Given the description of an element on the screen output the (x, y) to click on. 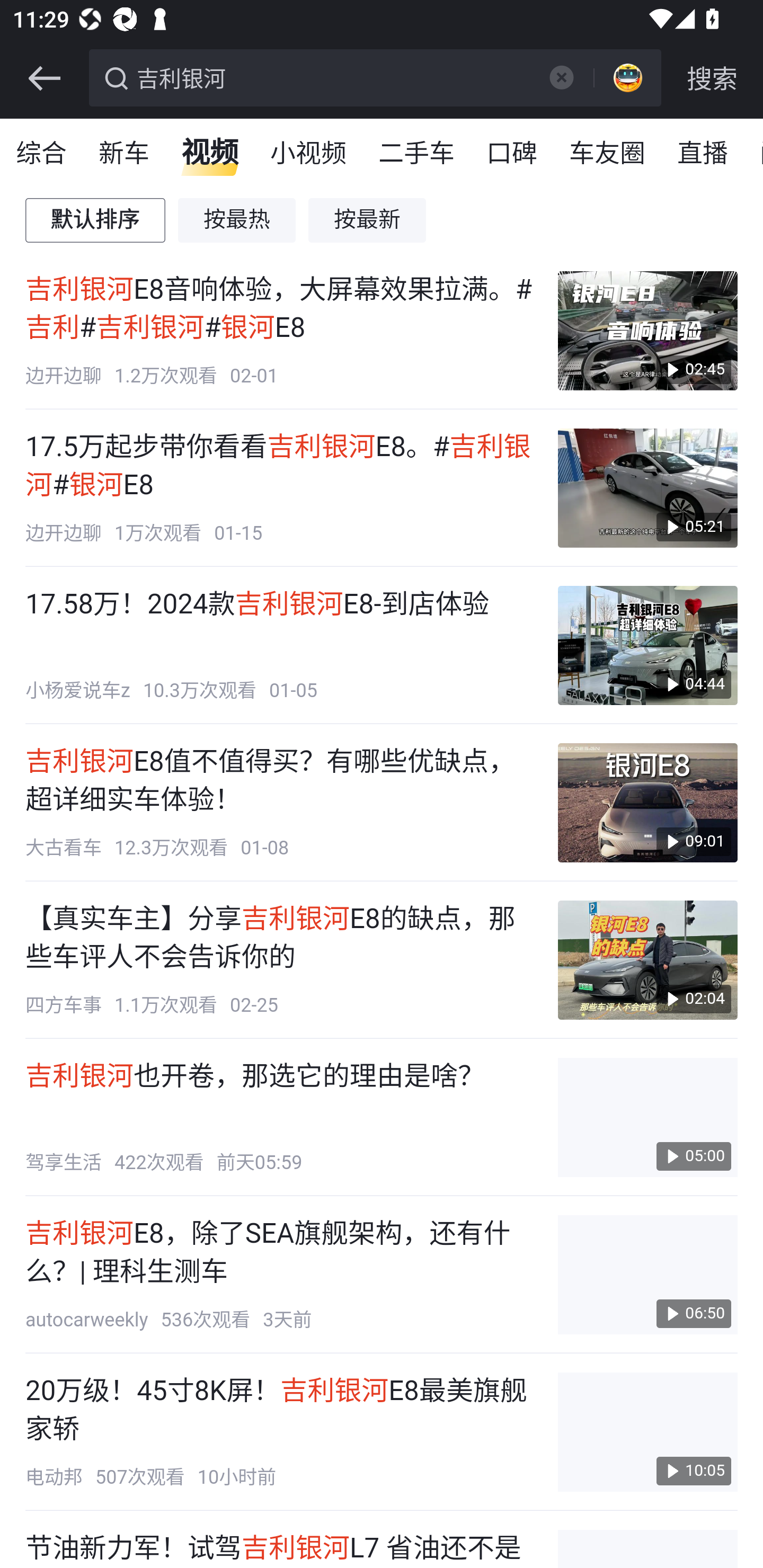
吉利银河 (331, 76)
 (560, 77)
 (44, 78)
搜索 (711, 78)
综合 (41, 153)
新车 (124, 153)
视频 (210, 153)
小视频 (308, 153)
二手车 (417, 153)
口碑 (512, 153)
车友圈 (608, 153)
直播 (703, 153)
默认排序 (96, 220)
按最热 (237, 220)
按最新 (367, 220)
02:45 (647, 330)
05:21 (647, 487)
17.58万！2024款 吉利银河 E8-到店体验 小杨爱说车z 10.3万次观看 01-05 (281, 645)
04:44 (647, 645)
吉利银河 E8值不值得买？有哪些优缺点，超详细实车体验！ 大古看车 12.3万次观看 01-08 (281, 802)
09:01 (647, 802)
【真实车主】分享 吉利银河 E8的缺点，那些车评人不会告诉你的 四方车事 1.1万次观看 02-25 (281, 959)
02:04 (647, 959)
吉利银河 也开卷，那选它的理由是啥？ 驾享生活 422次观看 前天05:59 (281, 1117)
05:00 (647, 1117)
06:50 (647, 1274)
20万级！45寸8K屏！ 吉利银河 E8最美旗舰家轿 电动邦 507次观看 10小时前 (281, 1431)
10:05 (647, 1431)
节油新力军！试驾 吉利银河 L7 省油还不是重点？ (281, 1549)
